Given the description of an element on the screen output the (x, y) to click on. 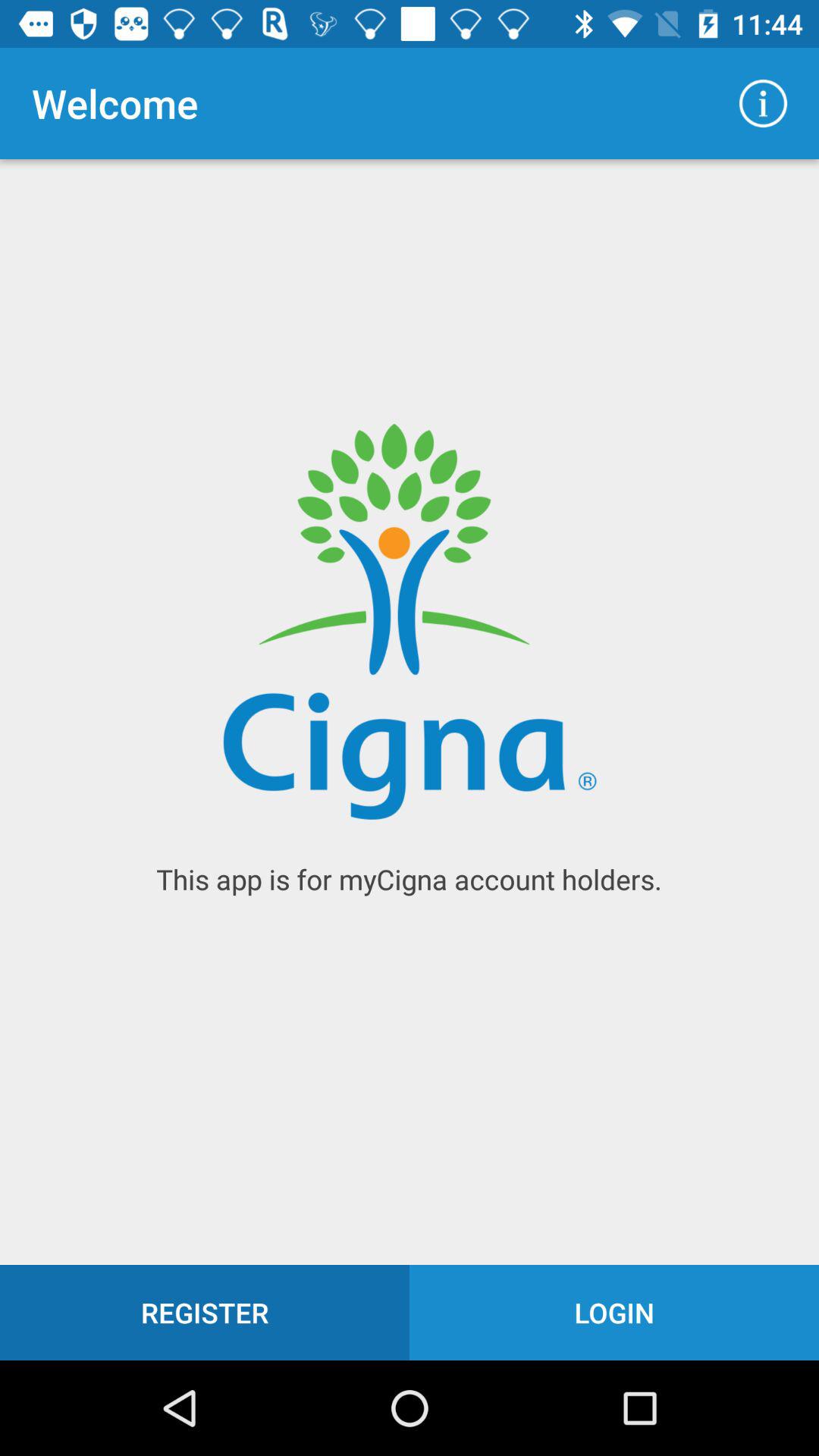
select the icon below the this app is (204, 1312)
